Given the description of an element on the screen output the (x, y) to click on. 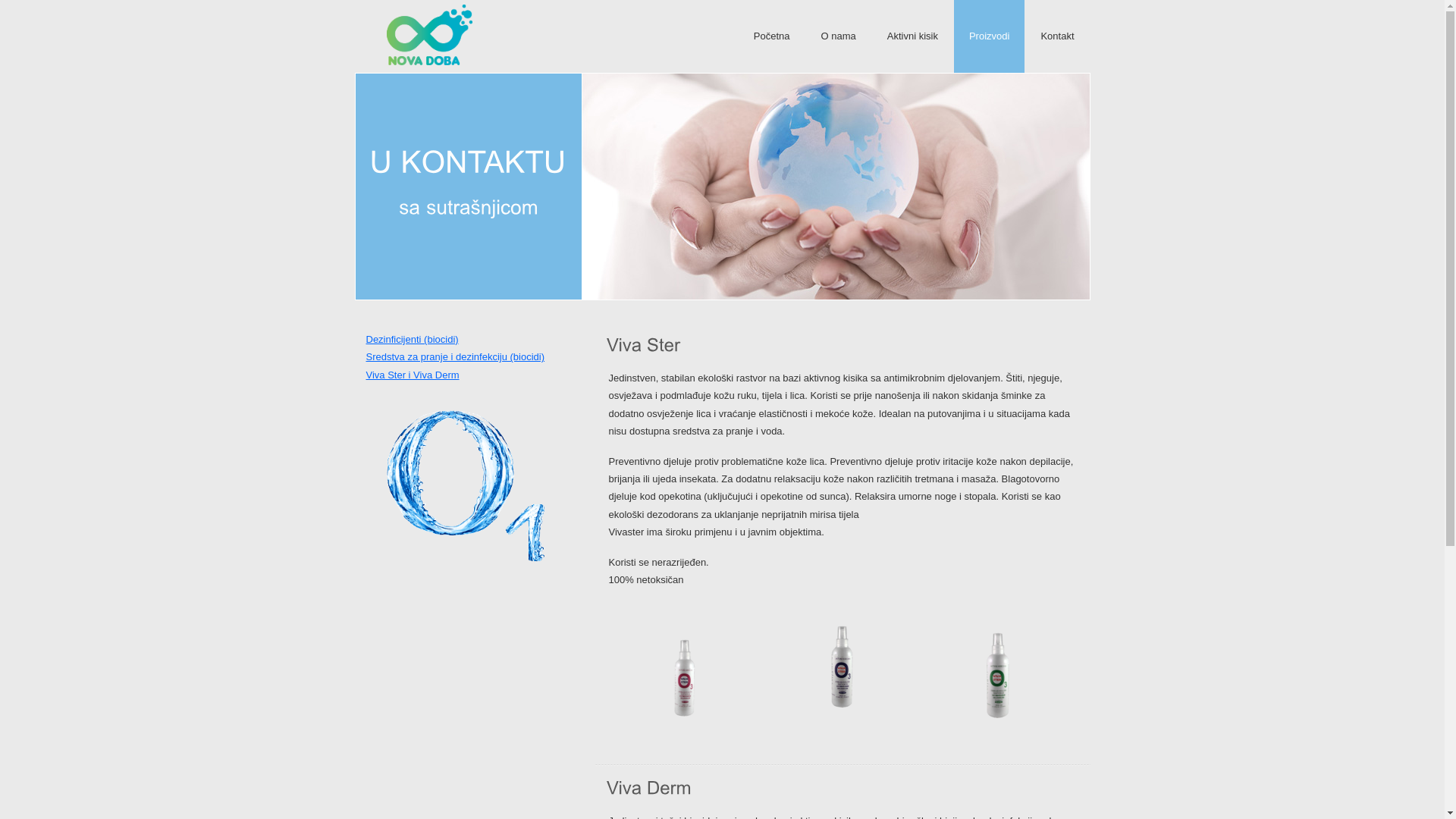
Aktivni kisik Element type: text (912, 36)
Kontakt Element type: text (1056, 36)
O nama Element type: text (837, 36)
Viva Ster i Viva Derm Element type: text (411, 374)
Dezinficijenti (biocidi) Element type: text (411, 339)
Sredstva za pranje i dezinfekciju (biocidi) Element type: text (454, 356)
Proizvodi Element type: text (988, 36)
